Given the description of an element on the screen output the (x, y) to click on. 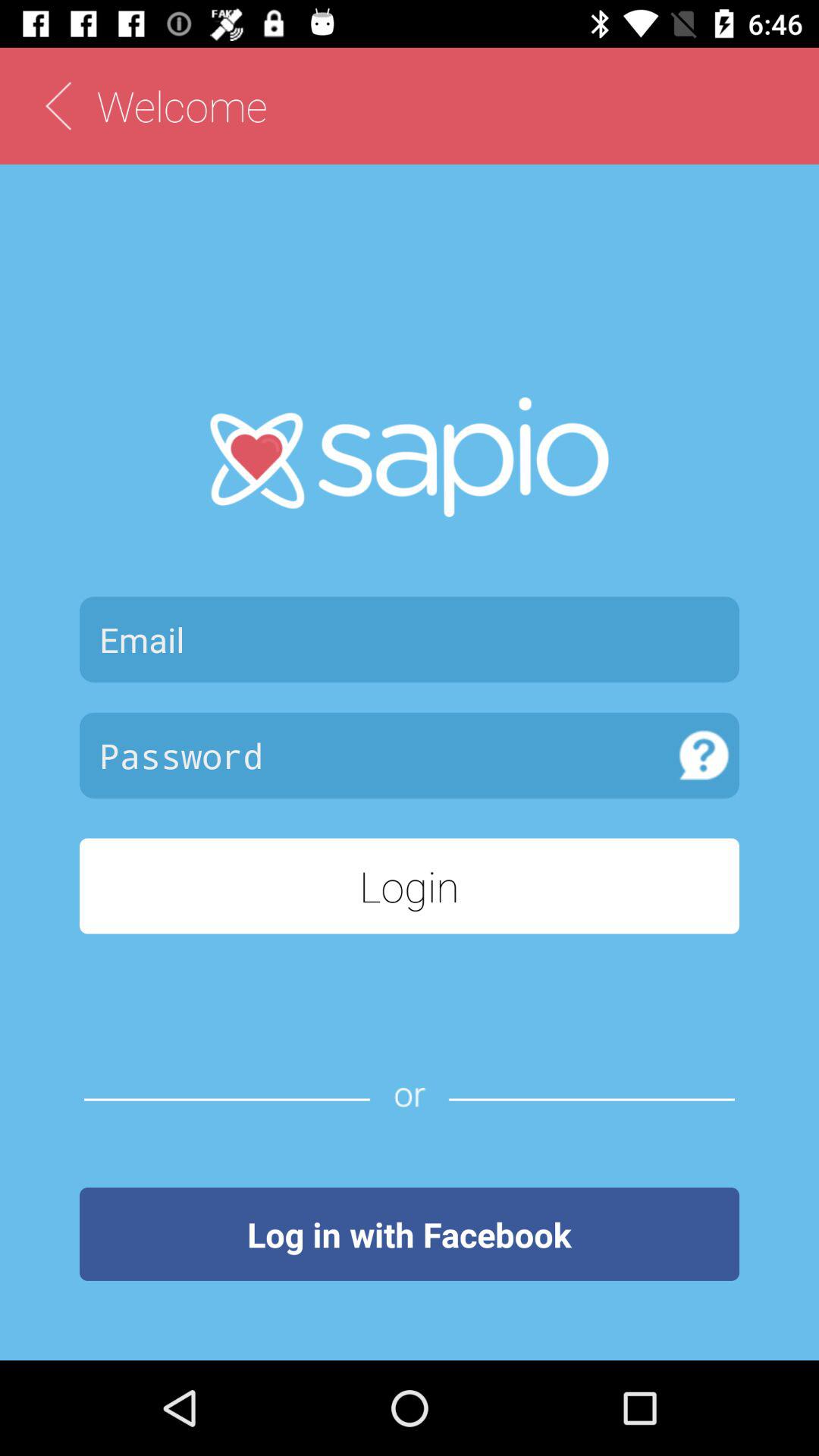
select item above login (703, 755)
